Given the description of an element on the screen output the (x, y) to click on. 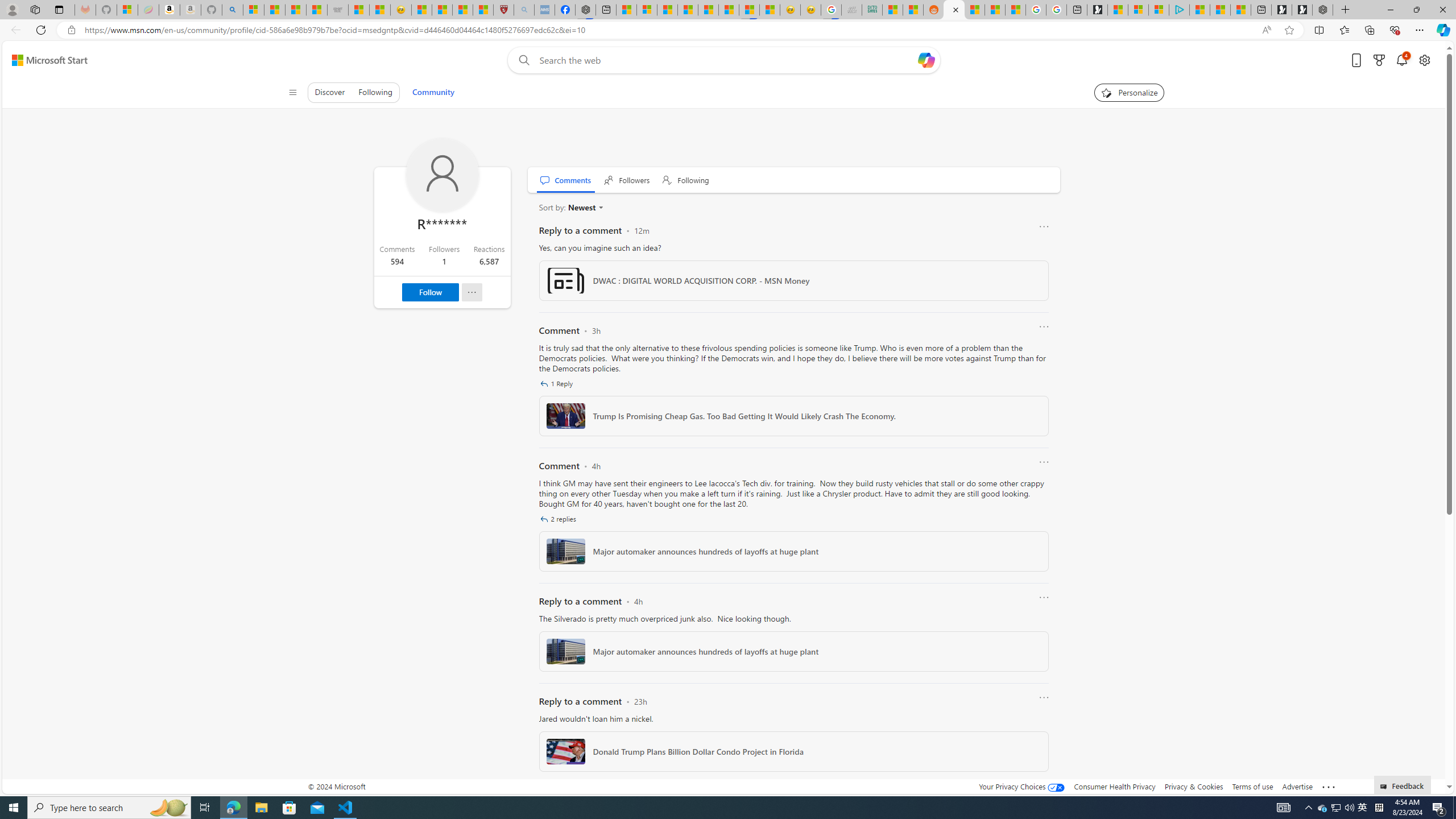
2 replies (558, 519)
 Following (686, 179)
 Followers (626, 179)
Community (432, 92)
